Given the description of an element on the screen output the (x, y) to click on. 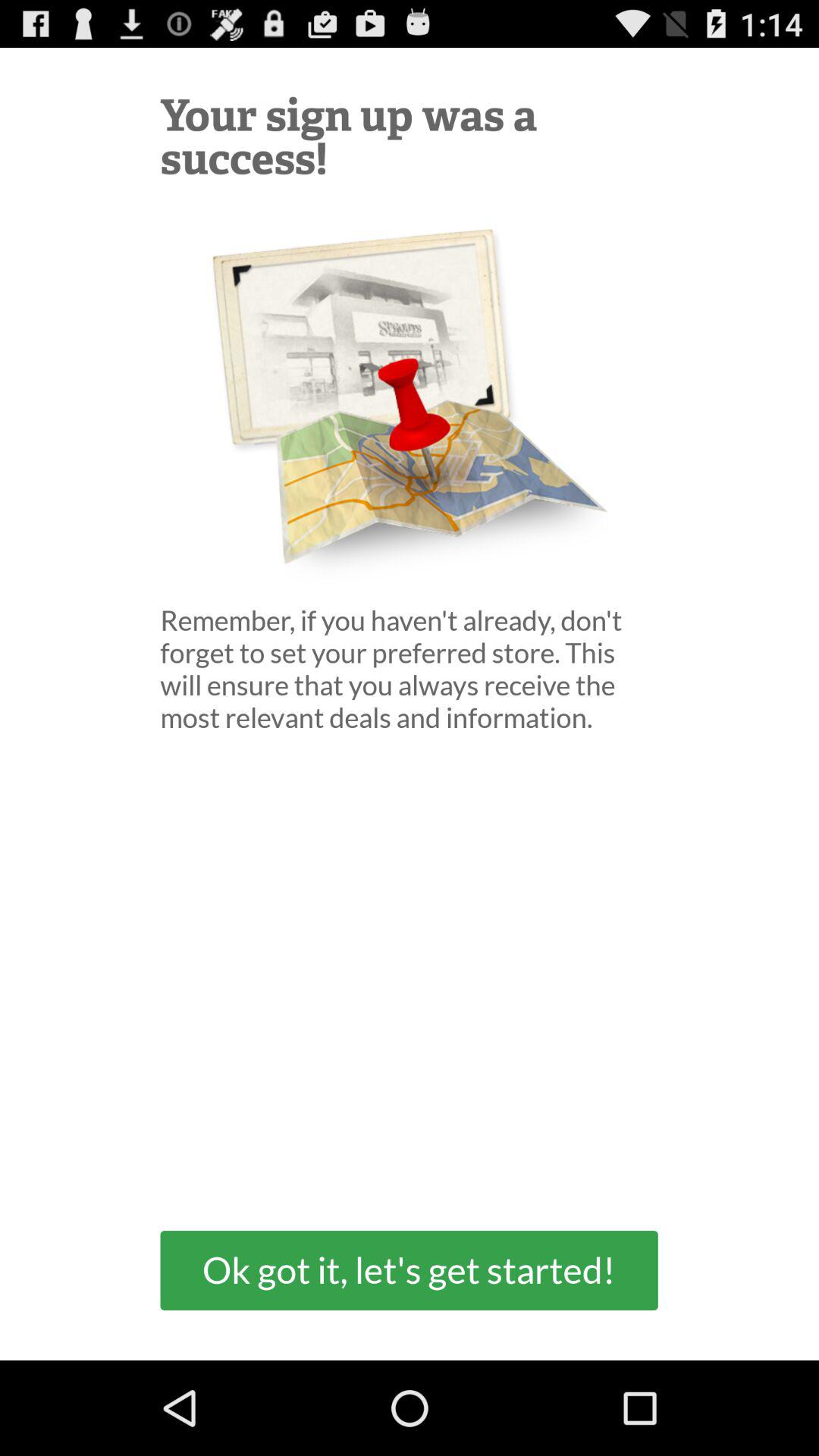
jump to the ok got it item (409, 1270)
